Given the description of an element on the screen output the (x, y) to click on. 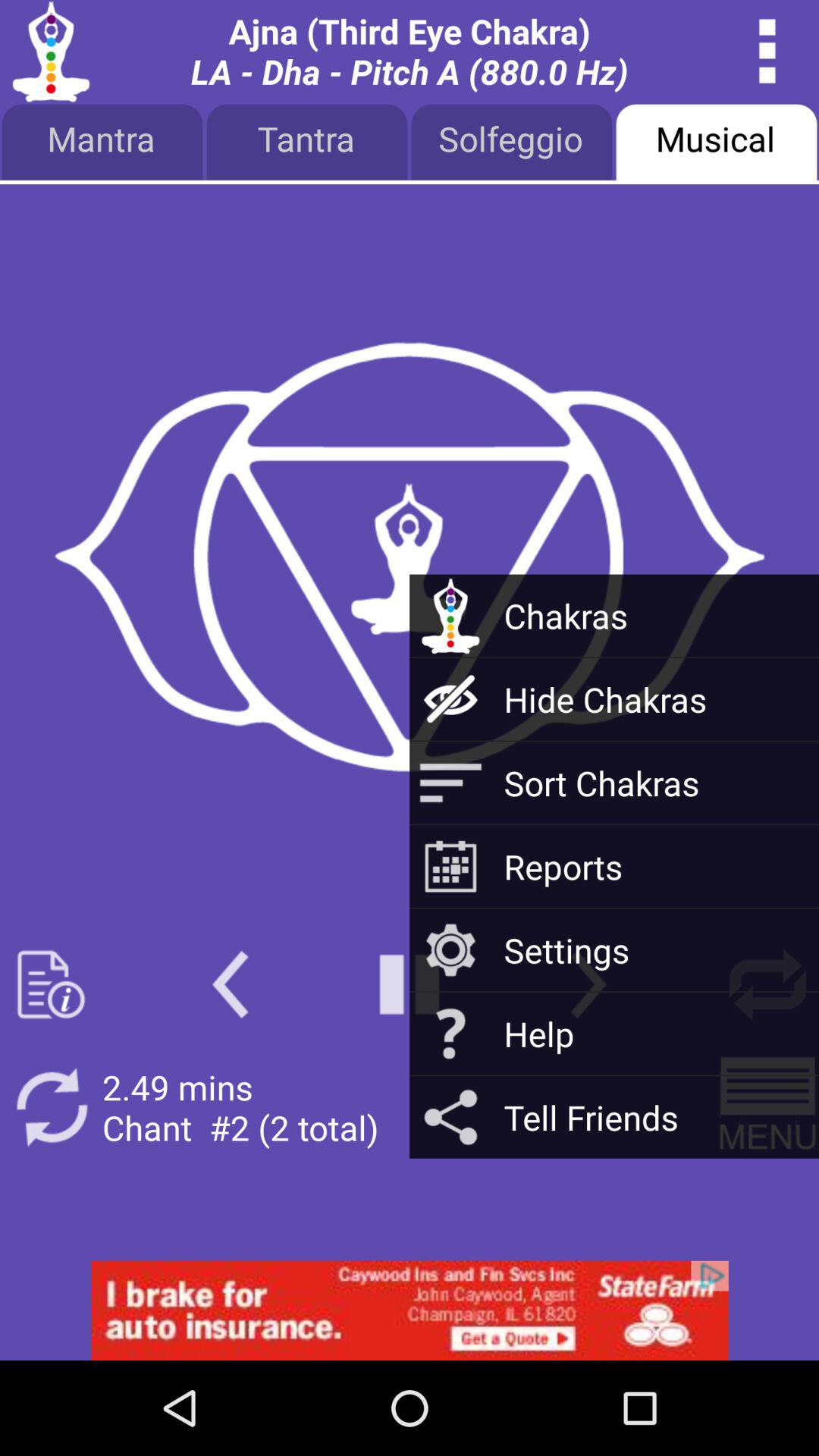
reload button (51, 1107)
